Given the description of an element on the screen output the (x, y) to click on. 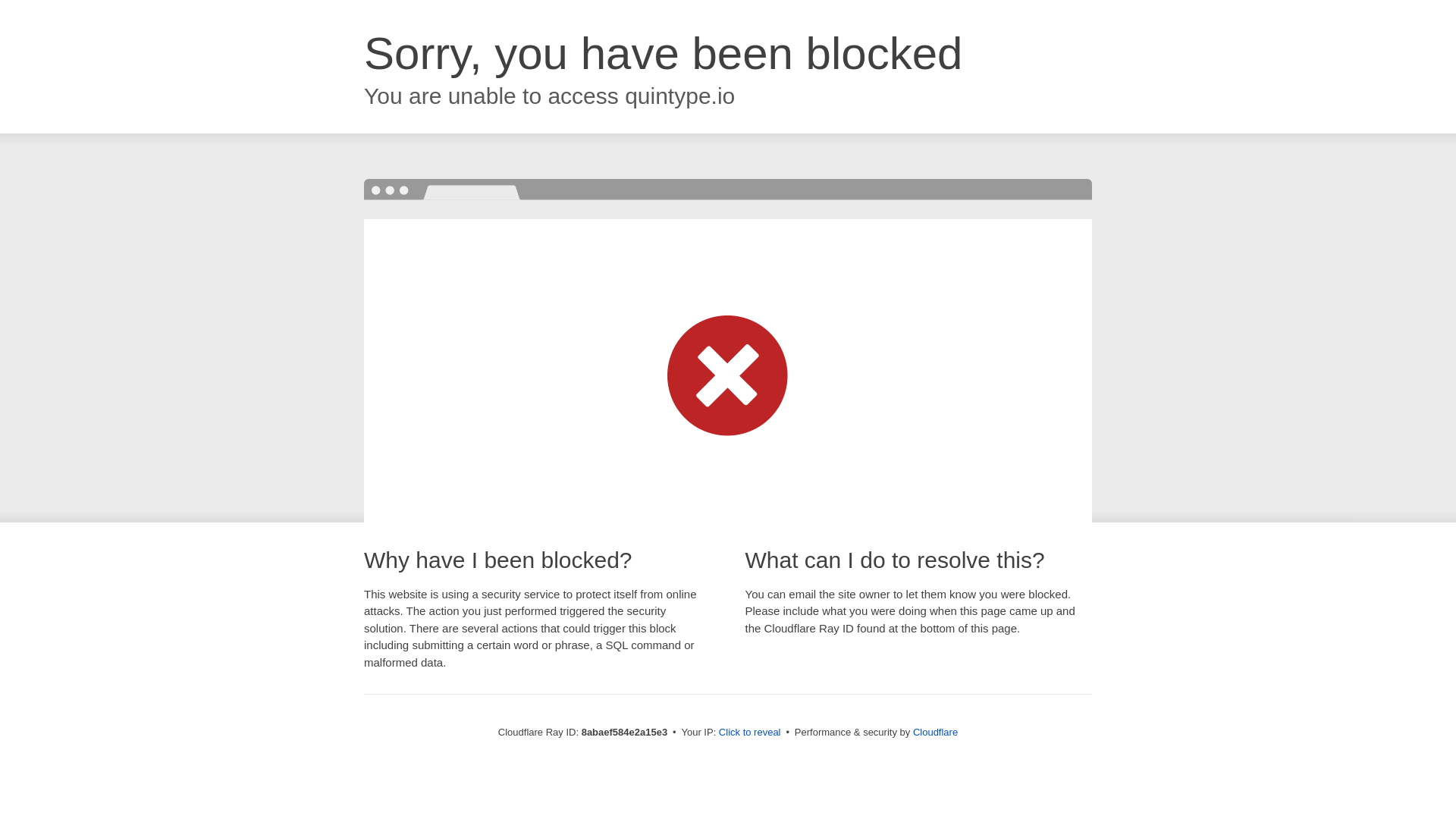
Cloudflare (935, 731)
Click to reveal (749, 732)
